Given the description of an element on the screen output the (x, y) to click on. 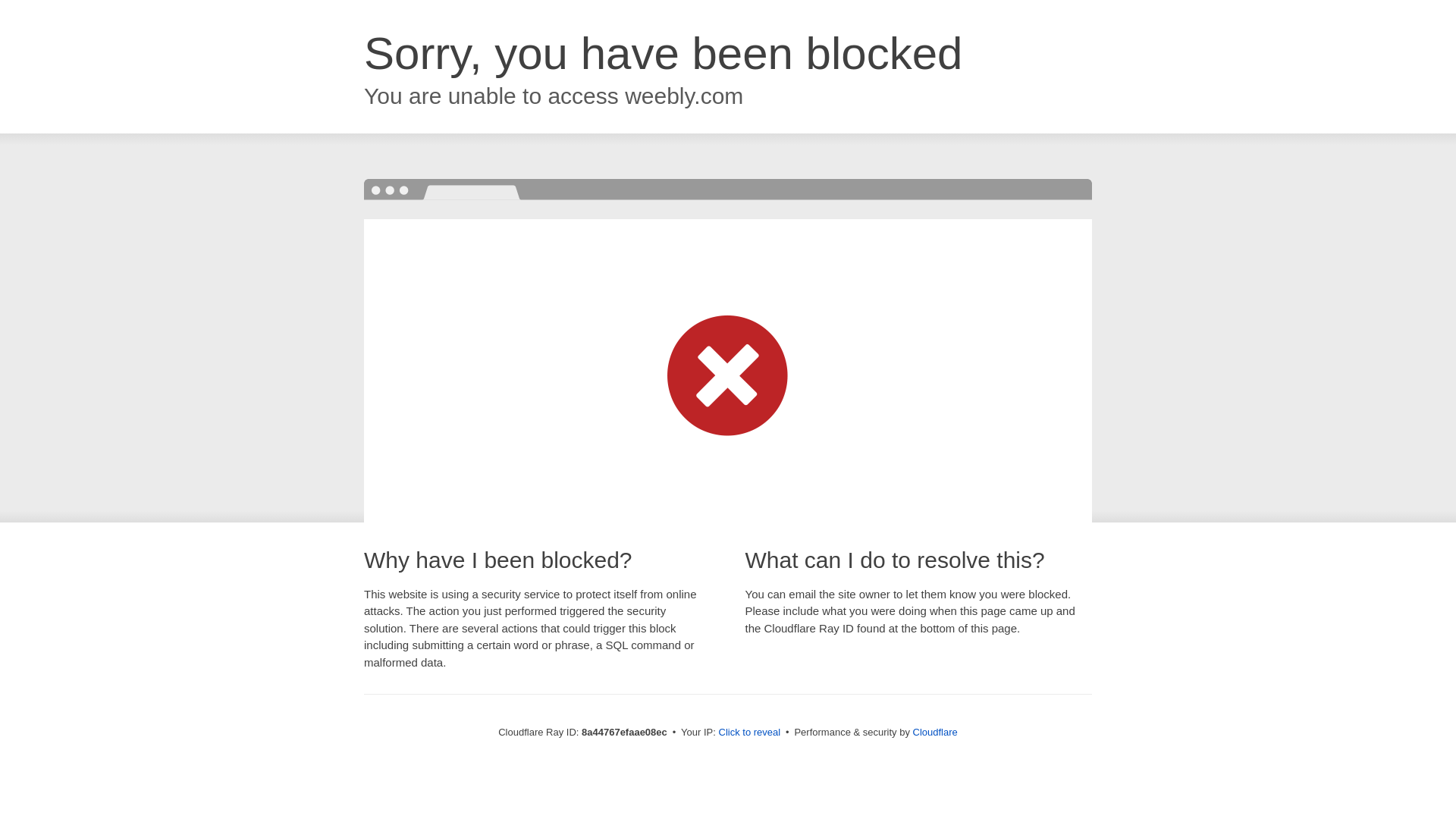
Cloudflare (935, 731)
Click to reveal (749, 732)
